Given the description of an element on the screen output the (x, y) to click on. 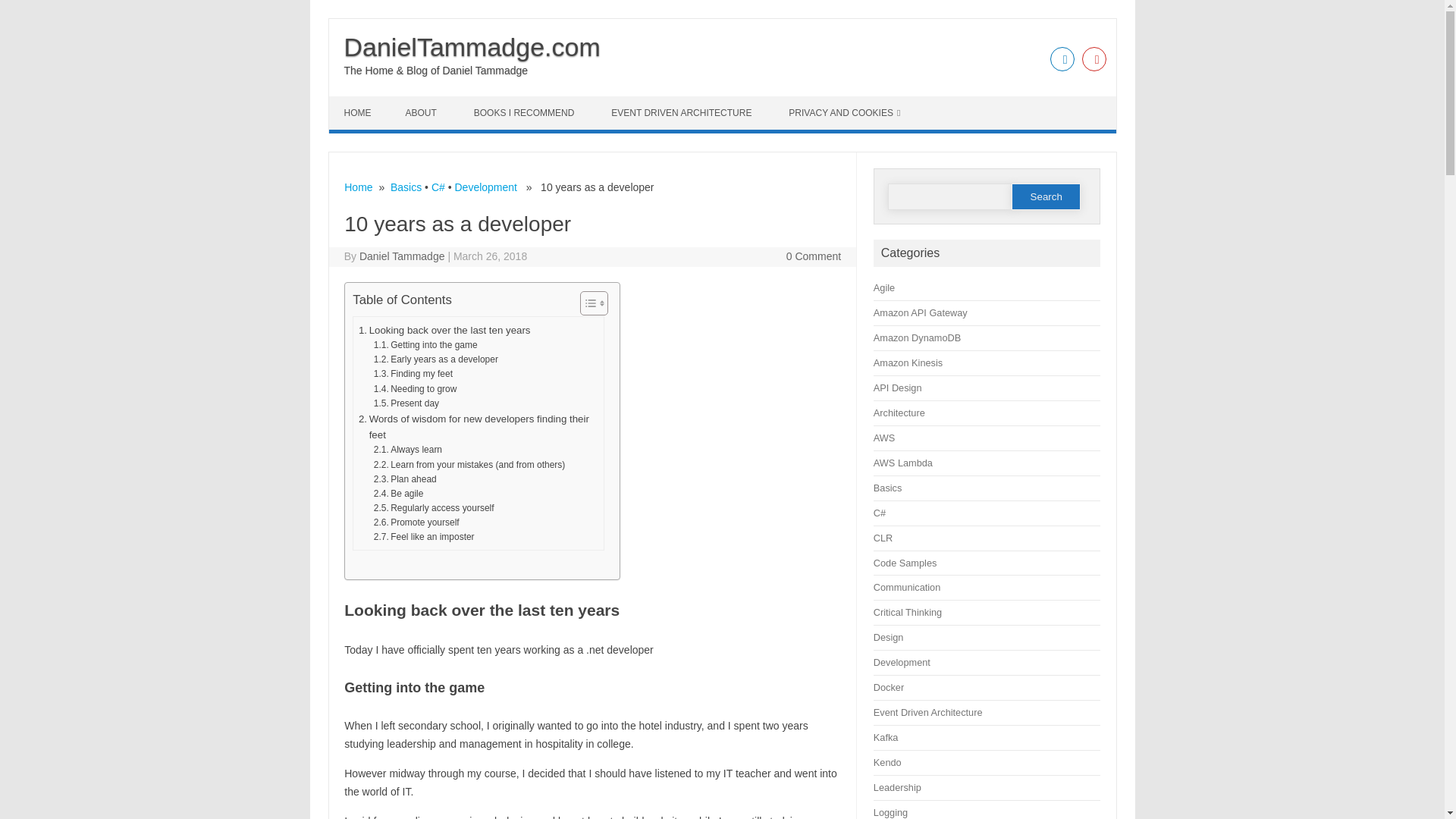
Be agile (398, 493)
Always learn (408, 450)
Needing to grow (415, 389)
Words of wisdom for new developers finding their feet (478, 427)
PRIVACY AND COOKIES (844, 112)
Daniel Tammadge (402, 256)
Looking back over the last ten years (444, 330)
Feel like an imposter (424, 536)
Skip to content (363, 101)
Early years as a developer (435, 359)
